Given the description of an element on the screen output the (x, y) to click on. 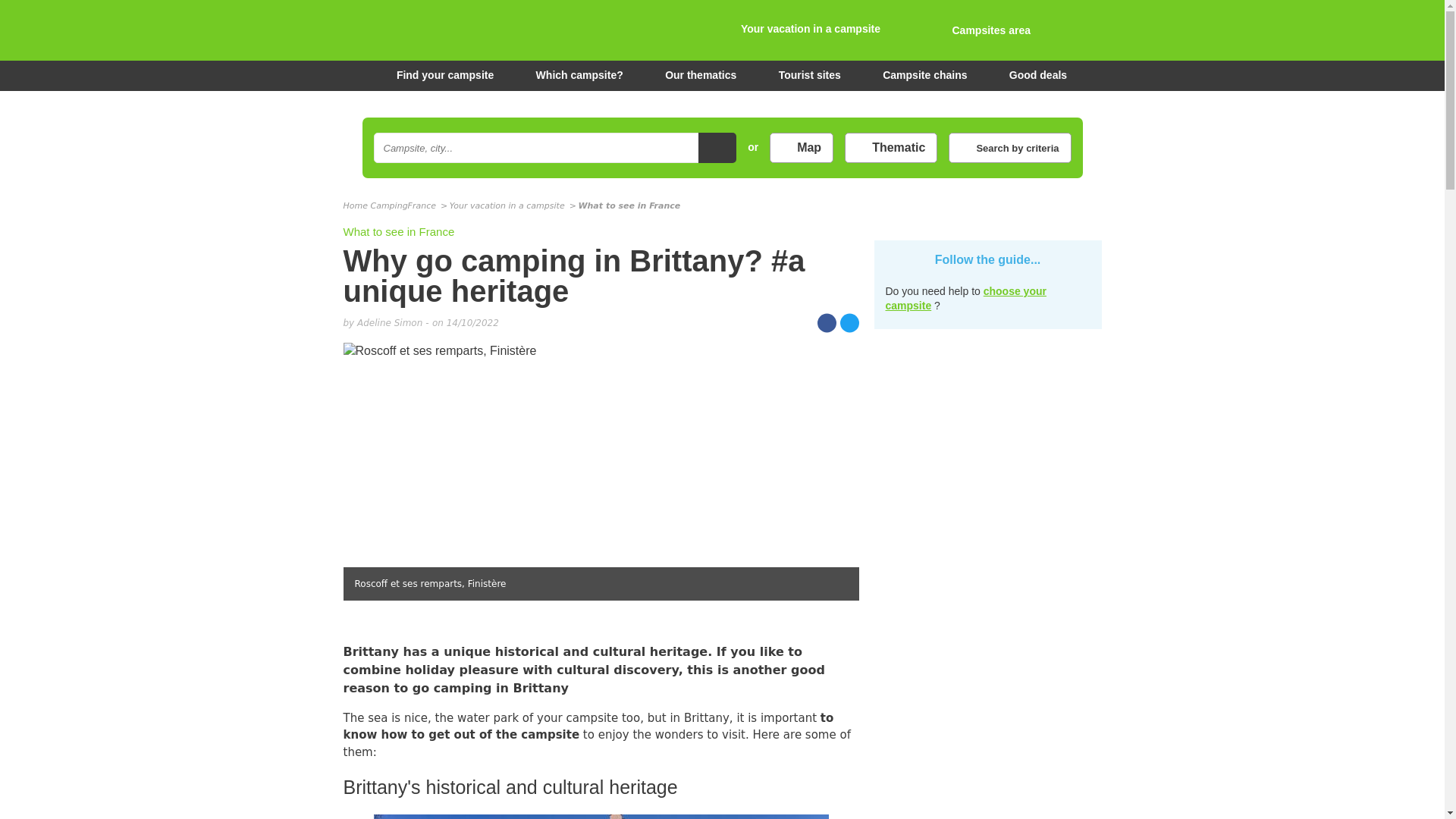
Switch language (1084, 32)
Our thematics (701, 75)
Map (801, 147)
Find your campsite (434, 75)
Find your campsite (434, 75)
Campsite chains (924, 75)
CampingFrance.com (721, 30)
Good deals (1037, 75)
Search by criteria (1009, 147)
